Given the description of an element on the screen output the (x, y) to click on. 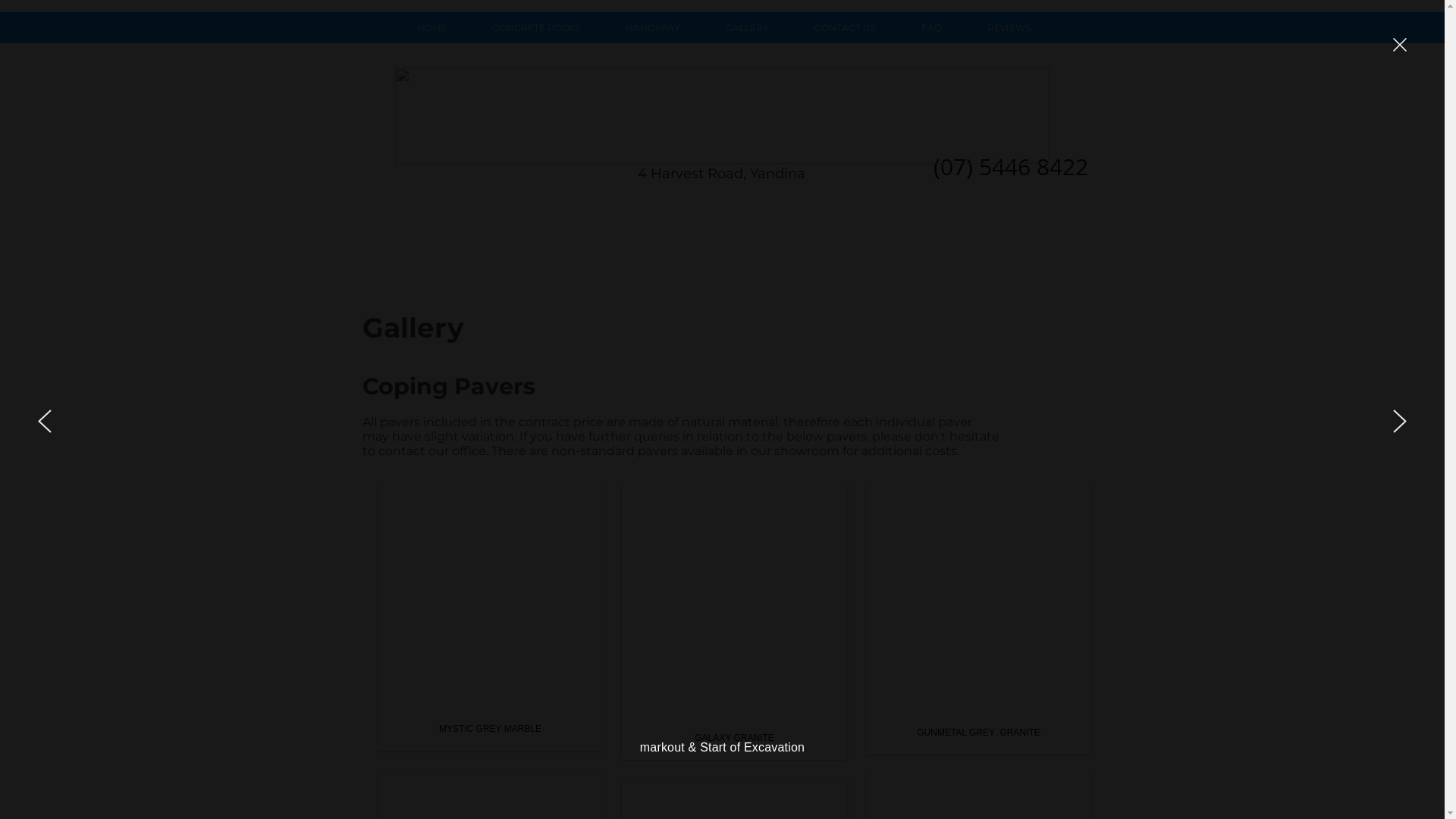
REVIEWS Element type: text (1008, 27)
HOME Element type: text (431, 27)
Factory Pools Logo_ Horizontal.png Element type: hover (721, 114)
CONTACT US Element type: text (844, 27)
GALLERY Element type: text (746, 27)
FAQ Element type: text (930, 27)
HANDYPAY Element type: text (652, 27)
Embedded Content Element type: hover (717, 242)
CONCRETE POOLS Element type: text (535, 27)
